Given the description of an element on the screen output the (x, y) to click on. 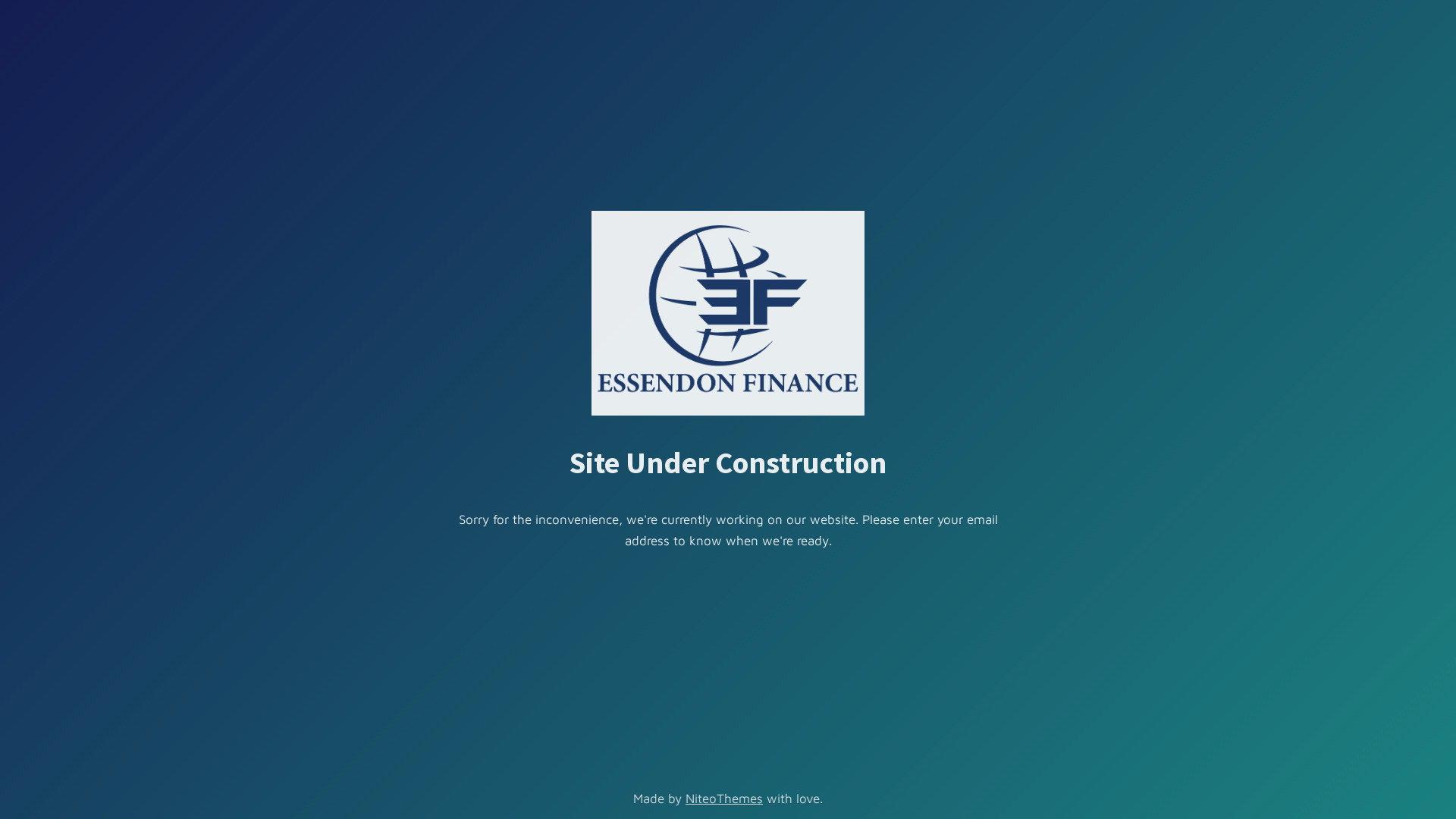
NiteoThemes Element type: text (723, 798)
